Given the description of an element on the screen output the (x, y) to click on. 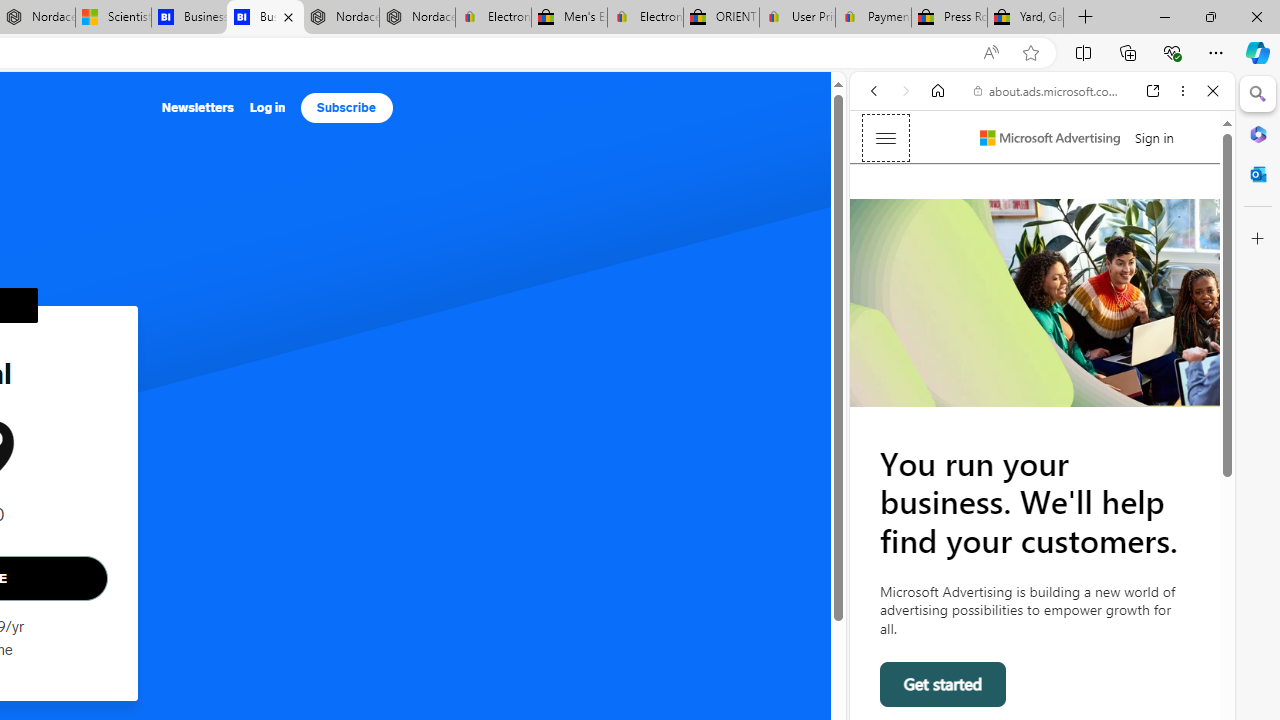
Get started (943, 683)
about.ads.microsoft.com (1045, 90)
